Given the description of an element on the screen output the (x, y) to click on. 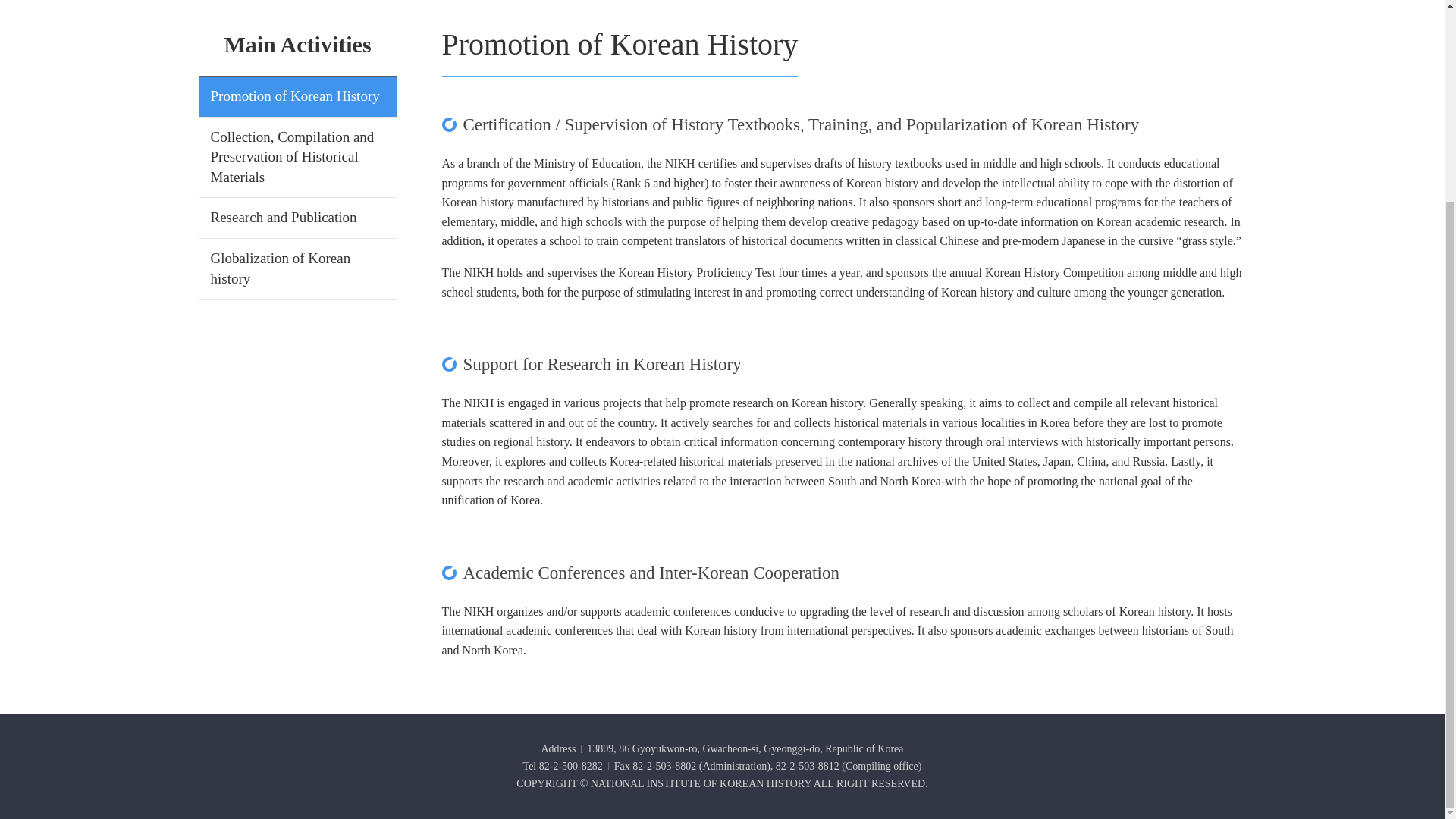
Globalization of Korean history (280, 268)
Research and Publication (283, 217)
Promotion of Korean History (295, 95)
